Given the description of an element on the screen output the (x, y) to click on. 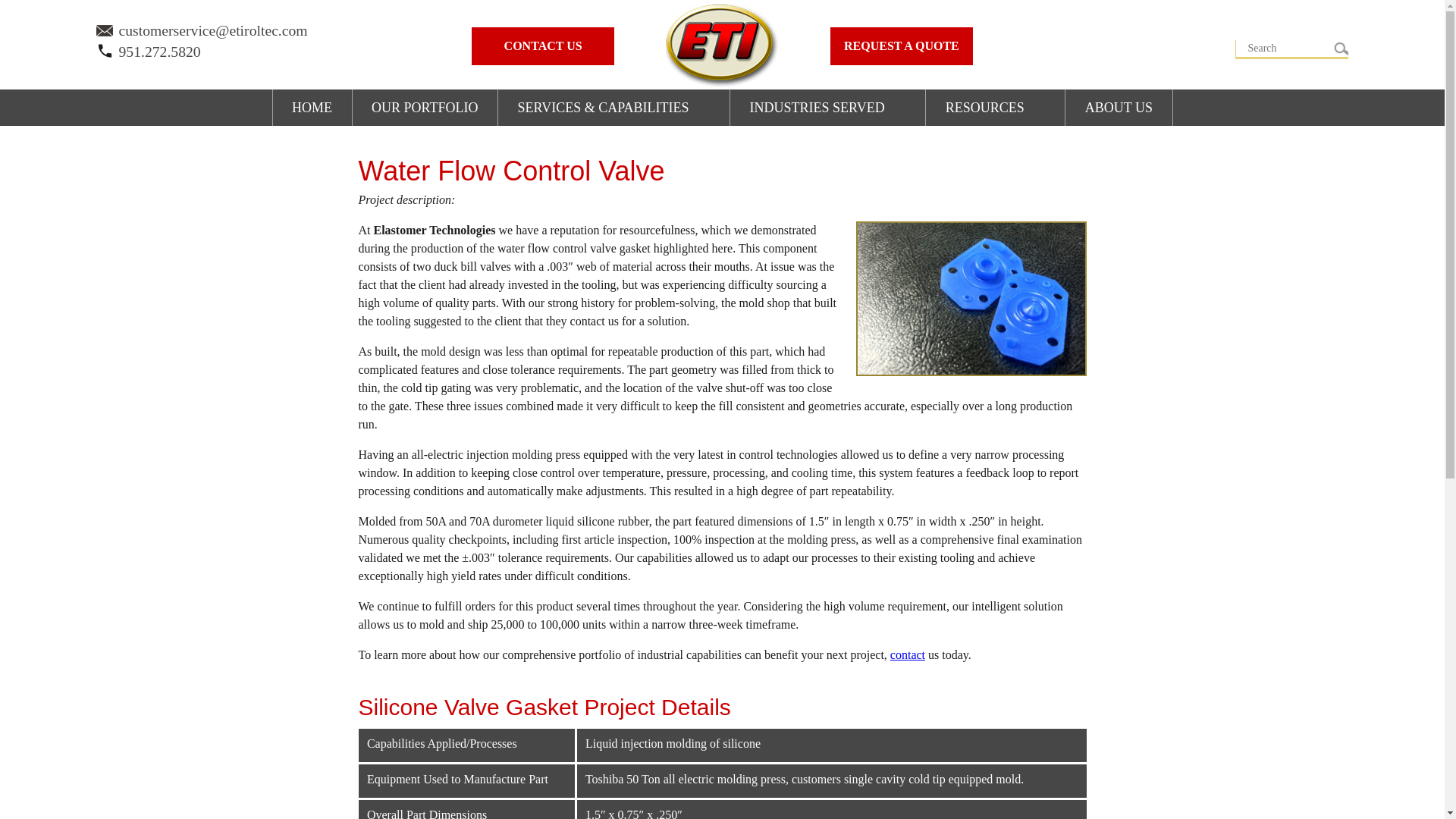
Search (1335, 47)
Silicone Valve Gasket (971, 371)
CONTACT US (542, 46)
951.272.5820 (148, 51)
OUR PORTFOLIO (424, 107)
Elastomer Technologies (721, 45)
Silicone Valve Gasket (971, 298)
INDUSTRIES SERVED (827, 107)
HOME (312, 107)
Search (1278, 47)
REQUEST A QUOTE (900, 46)
RESOURCES (995, 107)
